Given the description of an element on the screen output the (x, y) to click on. 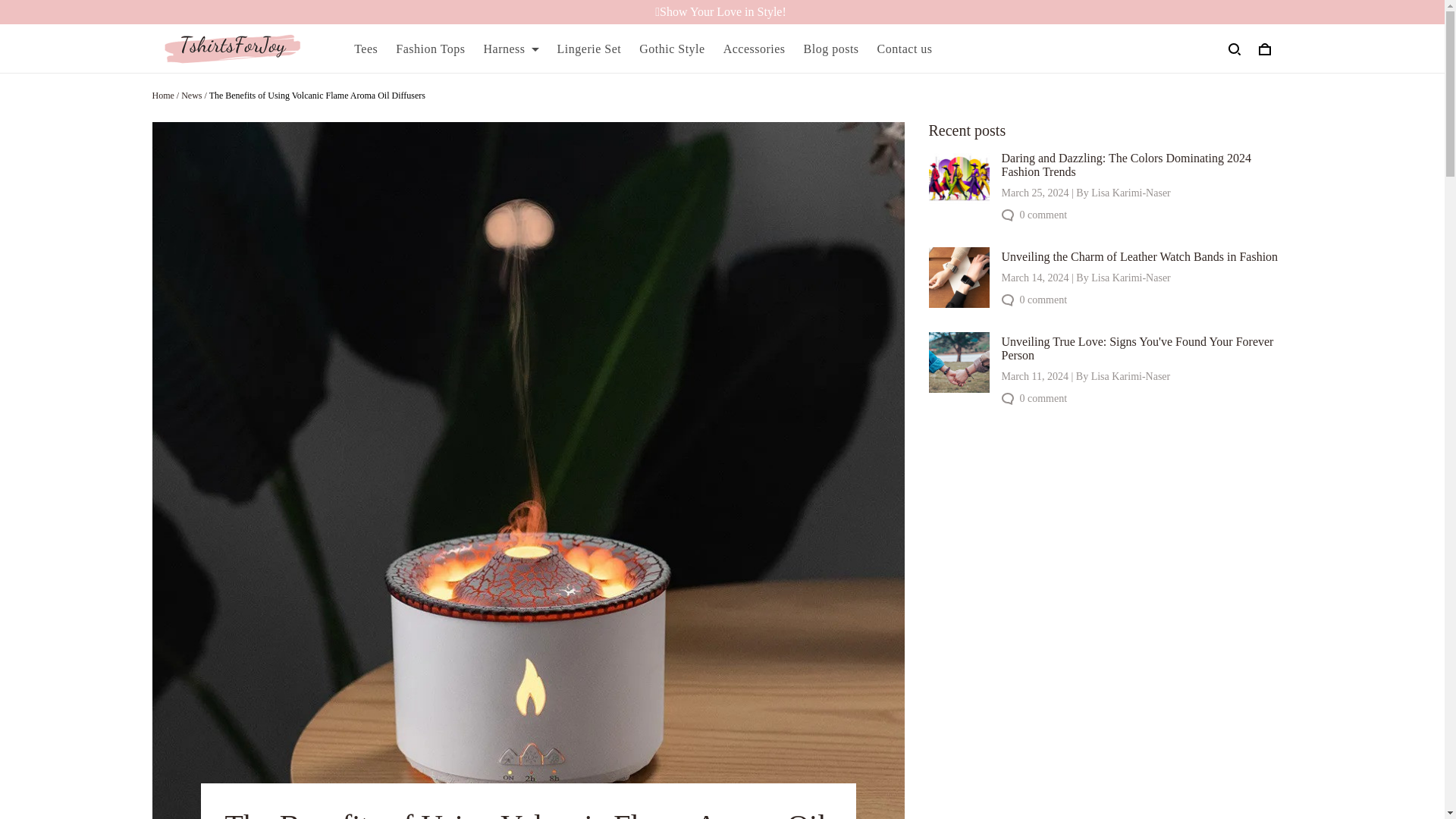
Blog posts (831, 48)
News (191, 95)
Harness (510, 48)
Unveiling the Charm of Leather Watch Bands in Fashion (1139, 256)
Unveiling True Love: Signs You've Found Your Forever Person (1137, 347)
Home (162, 95)
Tees (365, 48)
Gothic Style (671, 48)
Accessories (754, 48)
Contact us (905, 48)
Lingerie Set (589, 48)
Fashion Tops (430, 48)
